Given the description of an element on the screen output the (x, y) to click on. 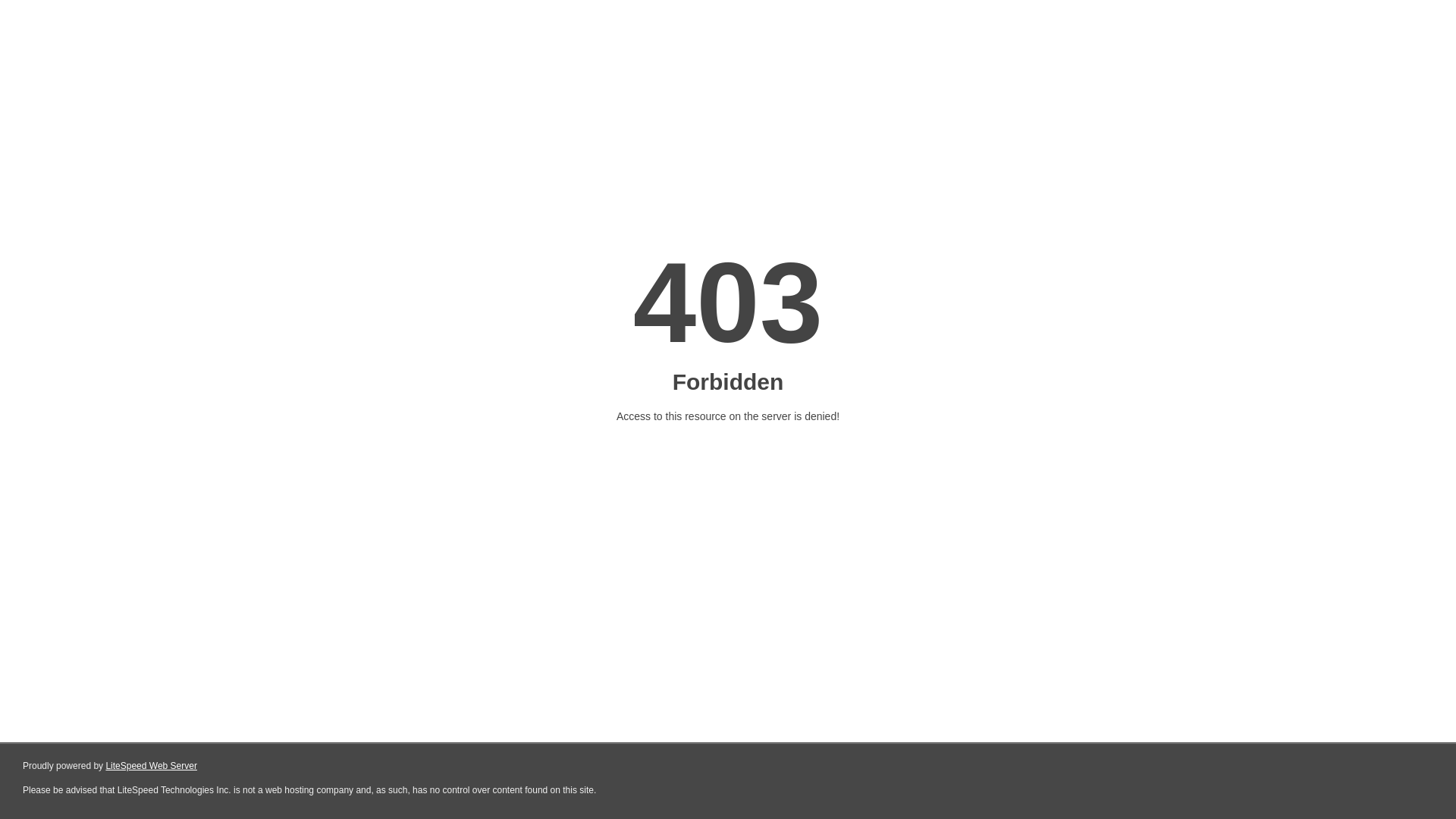
LiteSpeed Web Server Element type: text (151, 765)
